Given the description of an element on the screen output the (x, y) to click on. 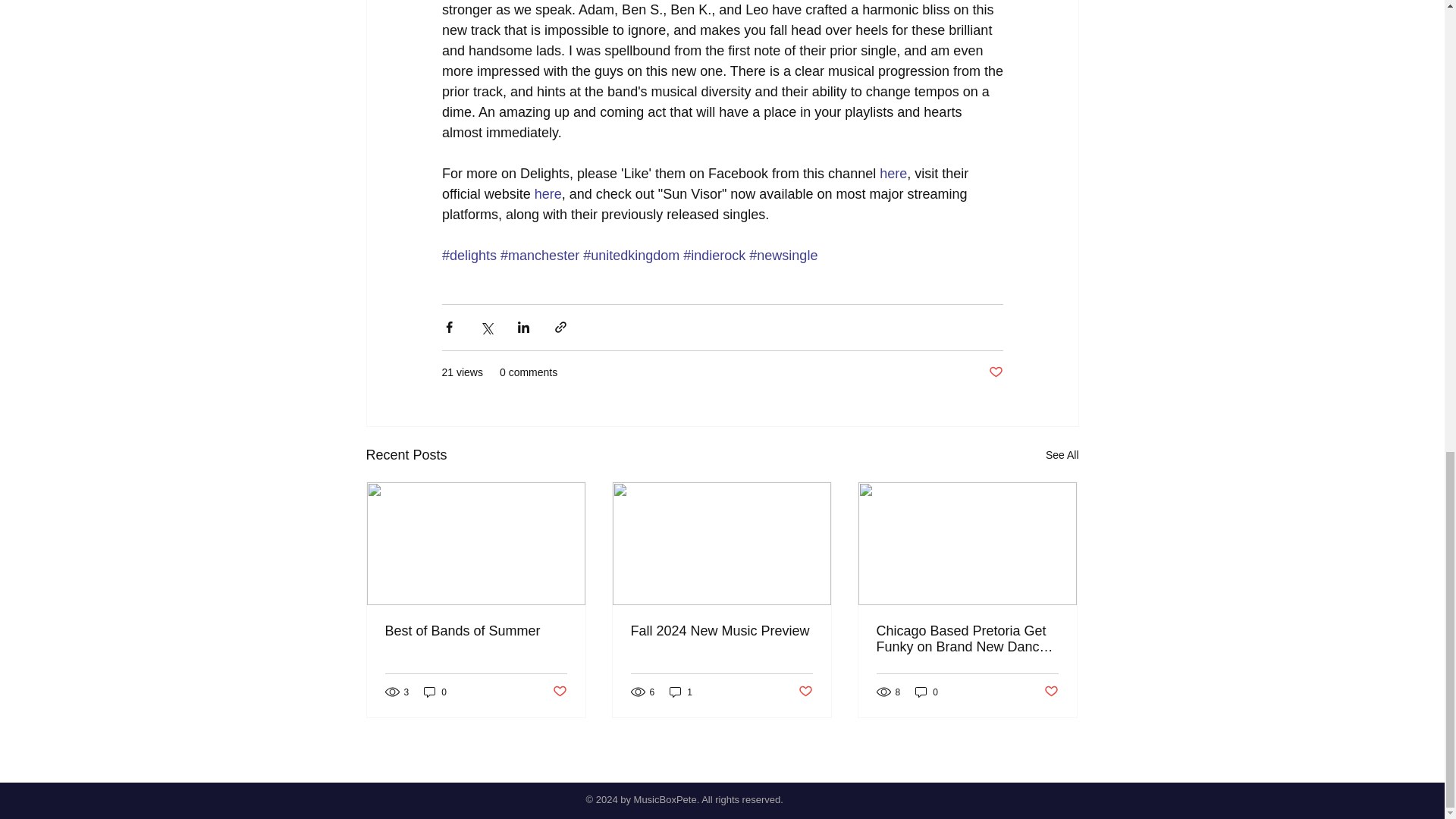
Post not marked as liked (995, 372)
Fall 2024 New Music Preview (721, 631)
0 (435, 691)
here (547, 193)
Best of Bands of Summer (476, 631)
here (893, 173)
0 (926, 691)
Post not marked as liked (1050, 691)
Post not marked as liked (558, 691)
